Given the description of an element on the screen output the (x, y) to click on. 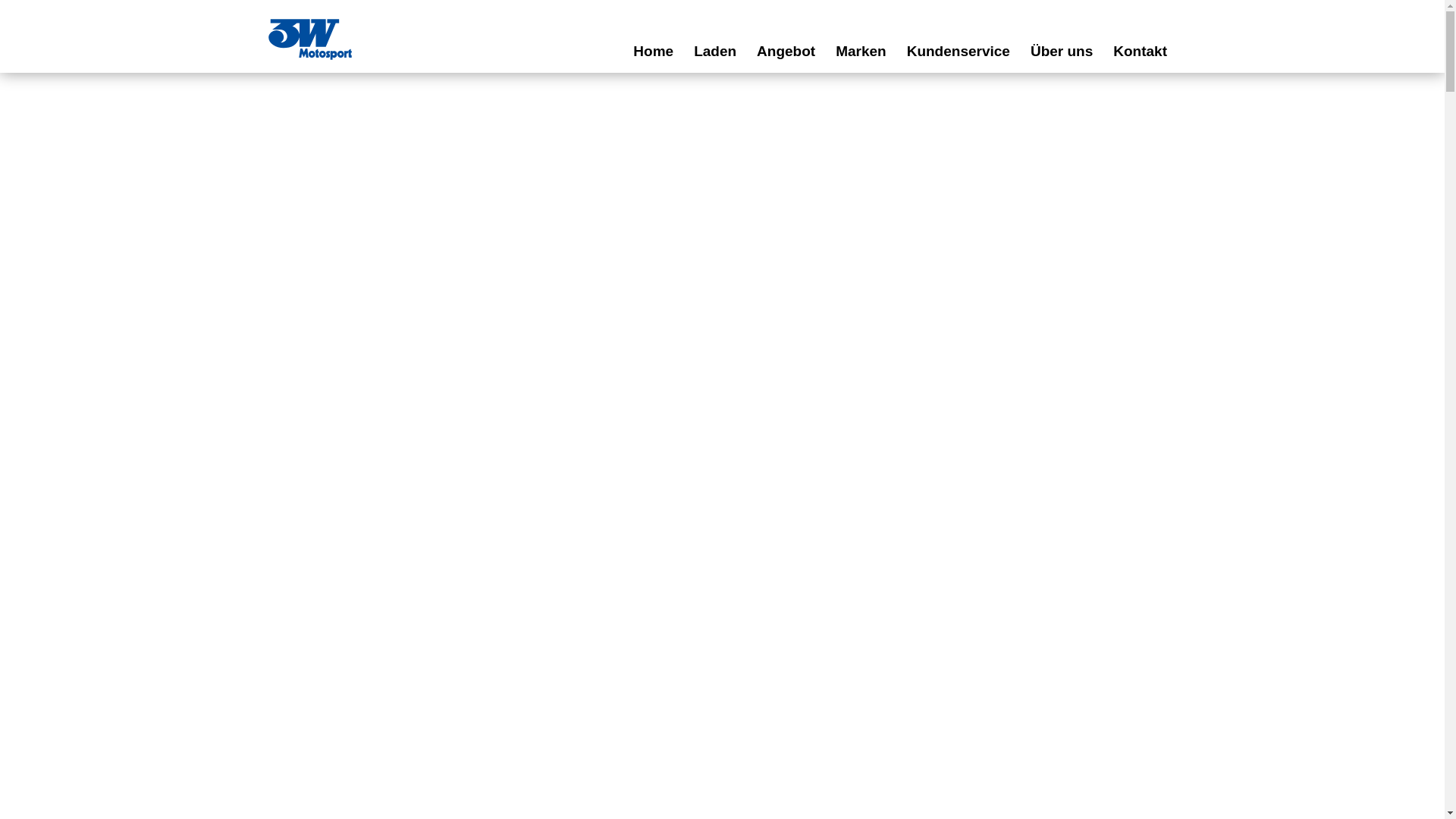
Angebot Element type: text (785, 51)
Kontakt Element type: text (1140, 51)
Zur Startseite Element type: hover (309, 39)
Marken Element type: text (861, 51)
Home Element type: text (653, 51)
Laden Element type: text (715, 51)
Kundenservice Element type: text (957, 51)
